Given the description of an element on the screen output the (x, y) to click on. 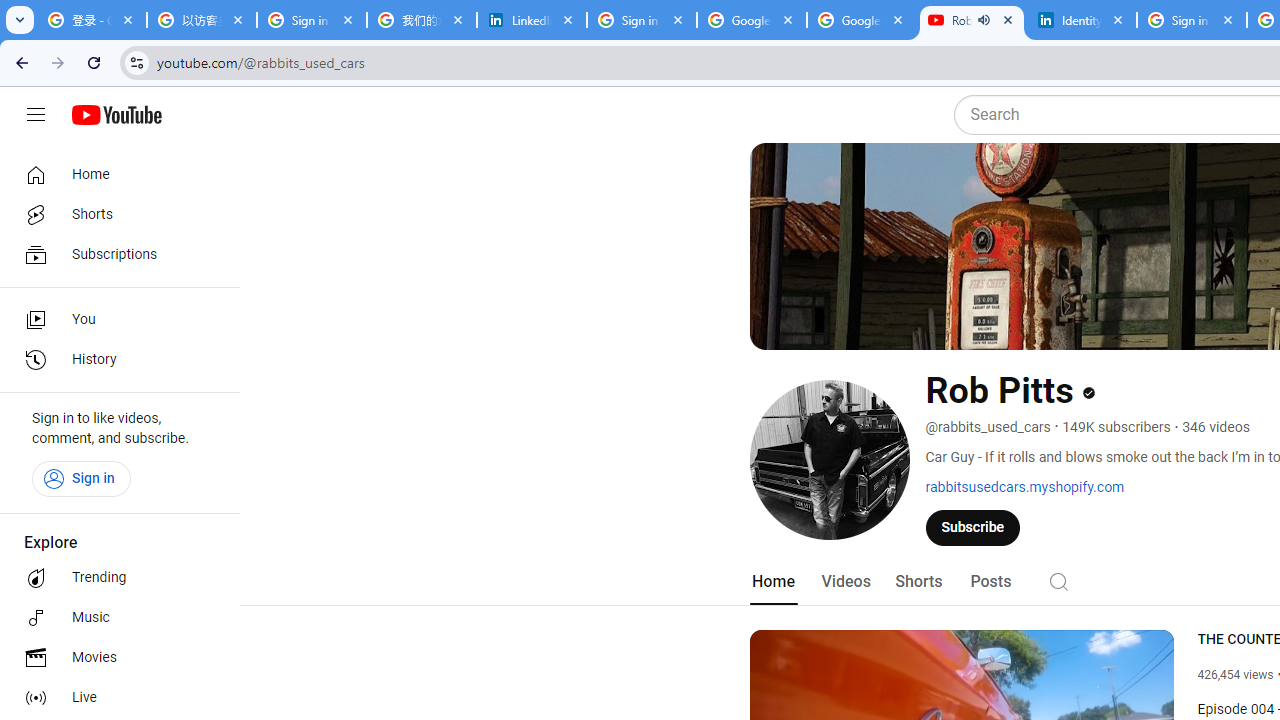
Shorts (113, 214)
Posts (990, 581)
Home (113, 174)
rabbitsusedcars.myshopify.com (1025, 487)
Videos (845, 581)
Music (113, 617)
Movies (113, 657)
History (113, 359)
Trending (113, 578)
